Given the description of an element on the screen output the (x, y) to click on. 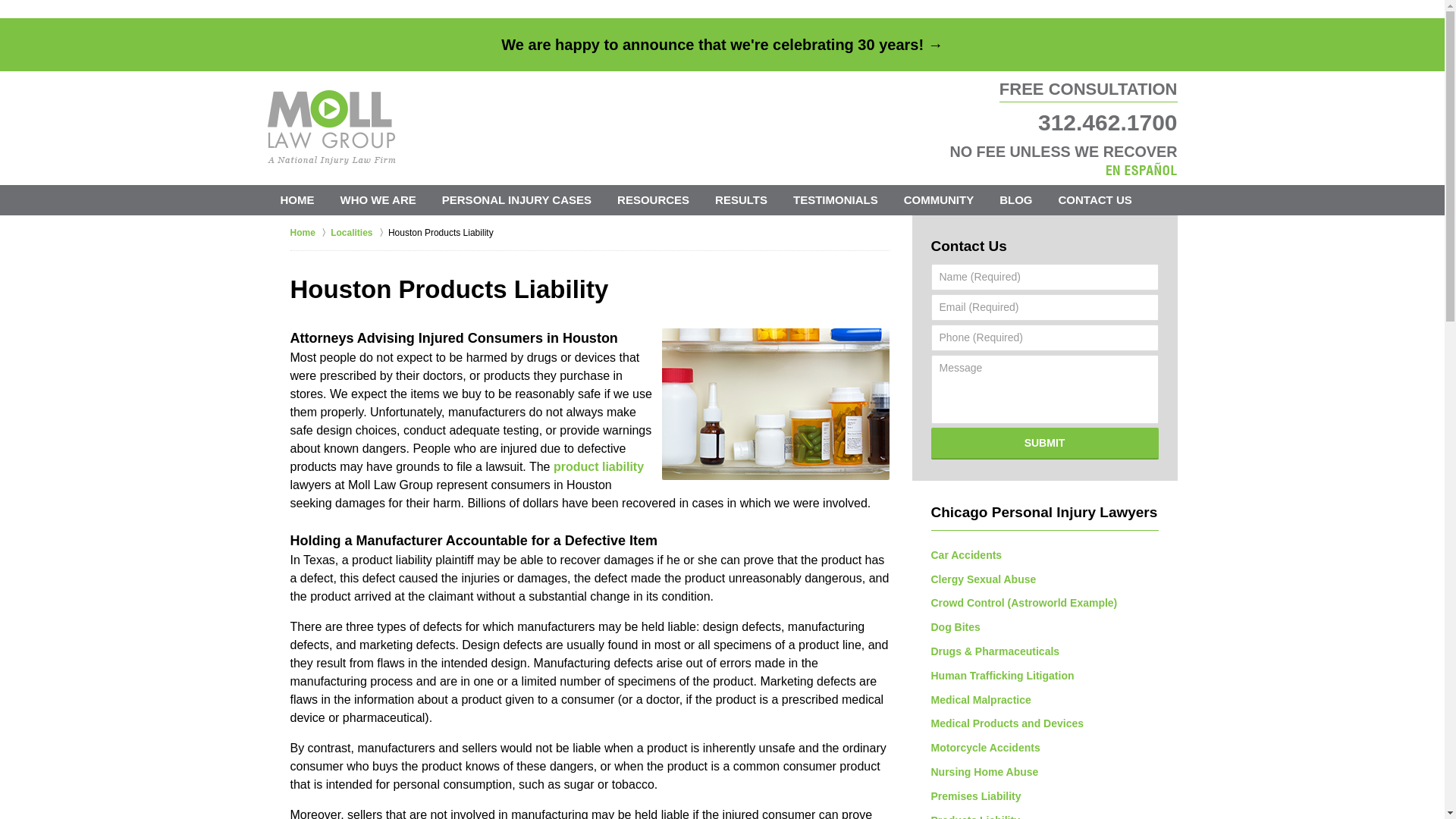
RESULTS (740, 200)
PERSONAL INJURY CASES (516, 200)
RESOURCES (652, 200)
Moll Law Group Home (330, 127)
COMMUNITY (939, 200)
Back to Home (330, 127)
TESTIMONIALS (835, 200)
BLOG (1016, 200)
WHO WE ARE (378, 200)
HOME (296, 200)
CONTACT US (1094, 200)
